Given the description of an element on the screen output the (x, y) to click on. 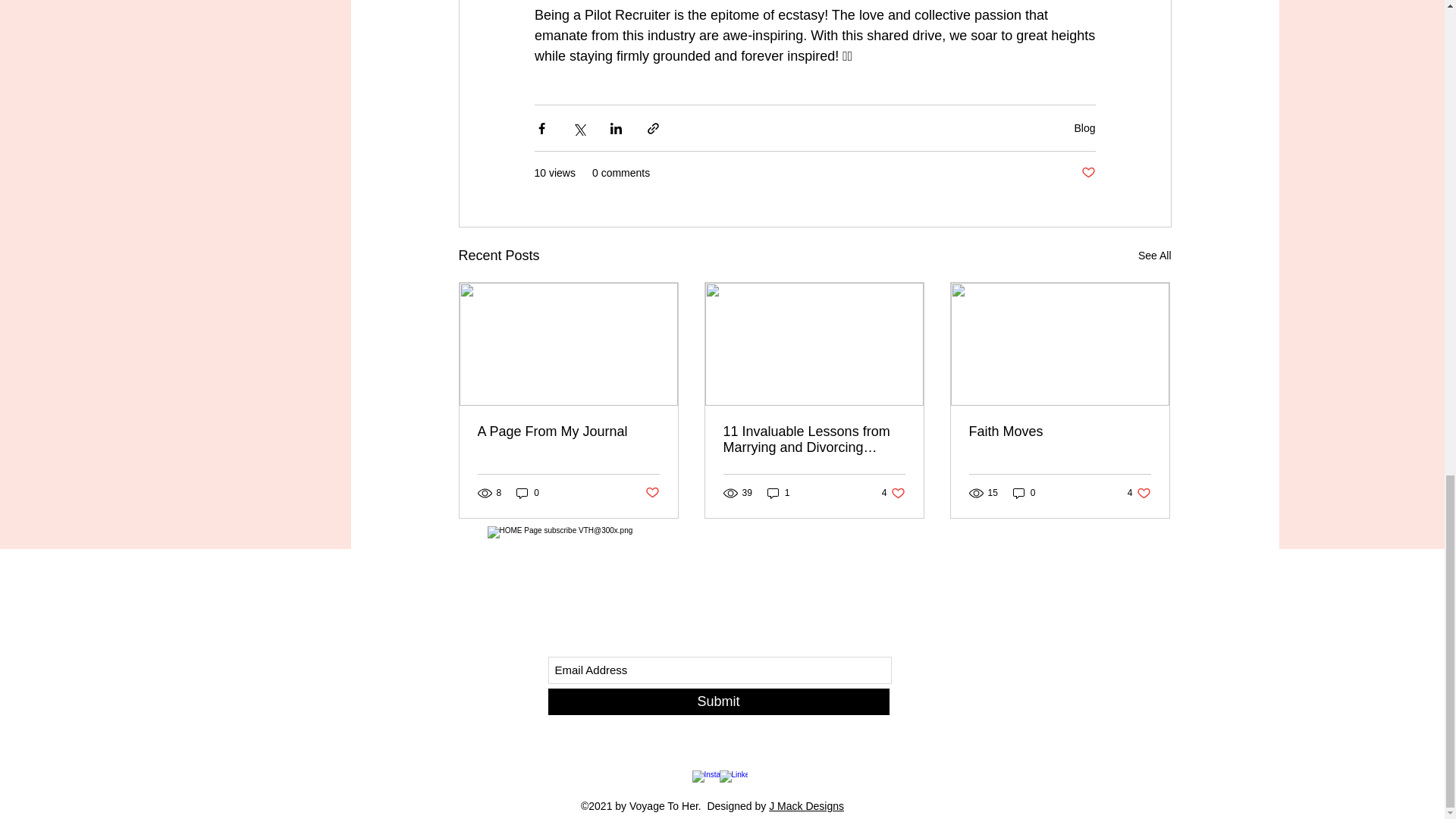
Post not marked as liked (652, 493)
J Mack Designs (806, 806)
0 (527, 492)
A Page From My Journal (568, 431)
1 (778, 492)
Blog (1084, 127)
Faith Moves (1060, 431)
Submit (717, 701)
0 (1023, 492)
See All (1138, 492)
Post not marked as liked (1155, 255)
